Given the description of an element on the screen output the (x, y) to click on. 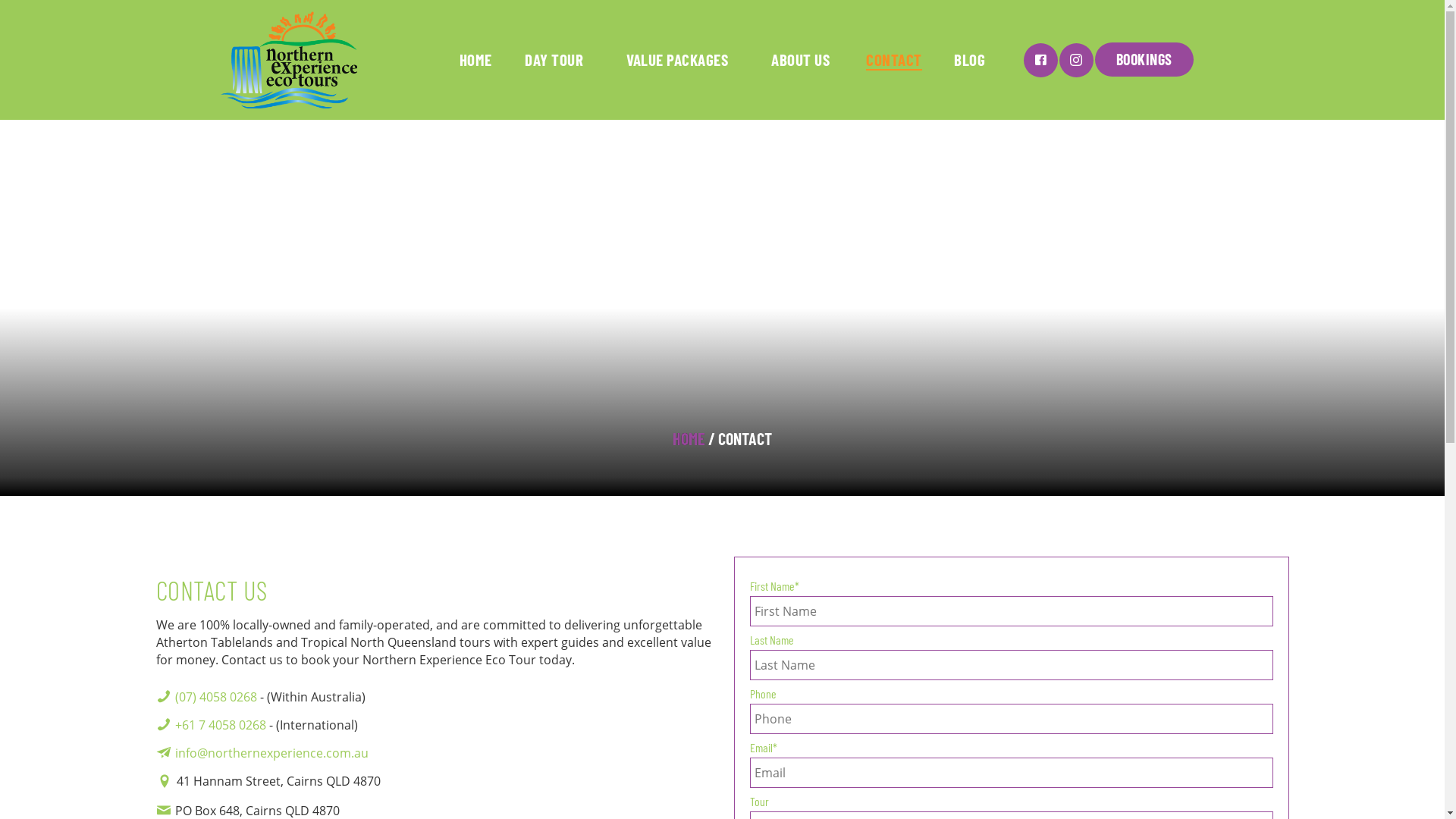
BLOG Element type: text (969, 59)
VALUE PACKAGES Element type: text (677, 59)
DAY TOUR Element type: text (554, 59)
info@northernexperience.com.au Element type: text (270, 752)
ABOUT US Element type: text (800, 59)
+61 7 4058 0268 Element type: text (219, 724)
HOME Element type: text (688, 438)
HOME Element type: text (474, 59)
(07) 4058 0268 Element type: text (215, 696)
BOOKINGS Element type: text (1144, 59)
CONTACT Element type: text (893, 59)
